Given the description of an element on the screen output the (x, y) to click on. 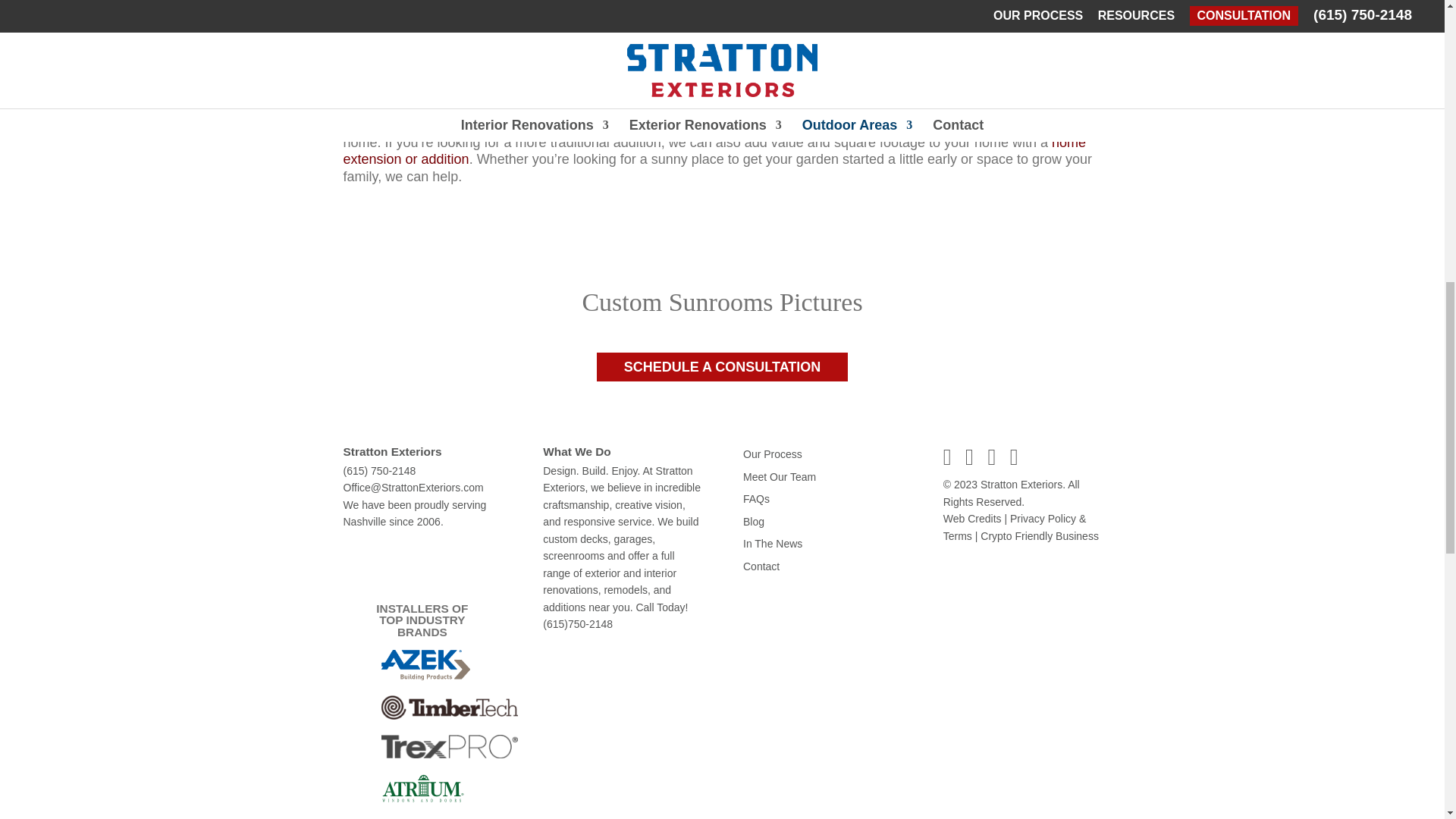
Web Credits (972, 518)
Privacy Policy (1014, 527)
